Given the description of an element on the screen output the (x, y) to click on. 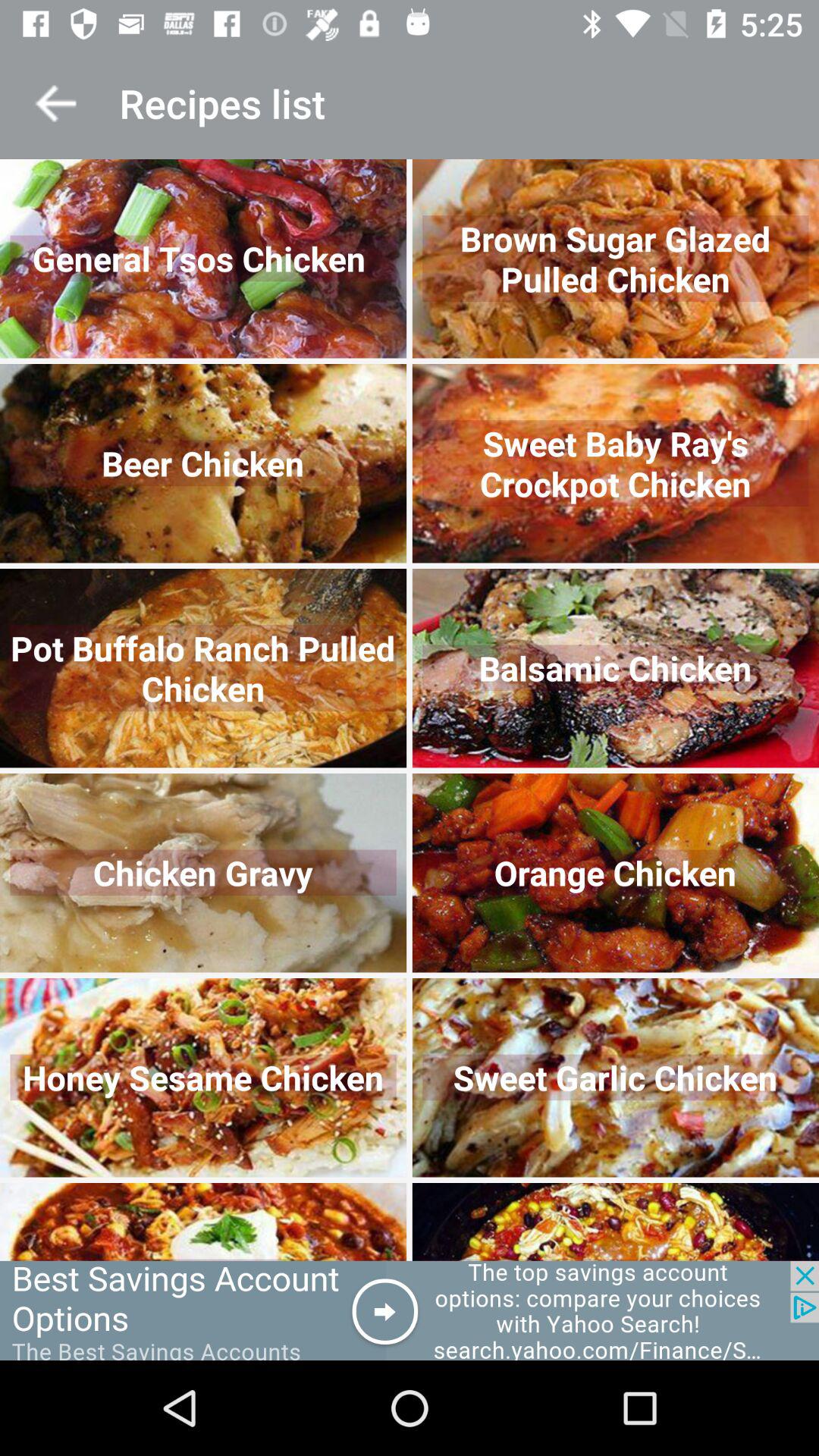
seta para voltar a anterior (55, 103)
